Given the description of an element on the screen output the (x, y) to click on. 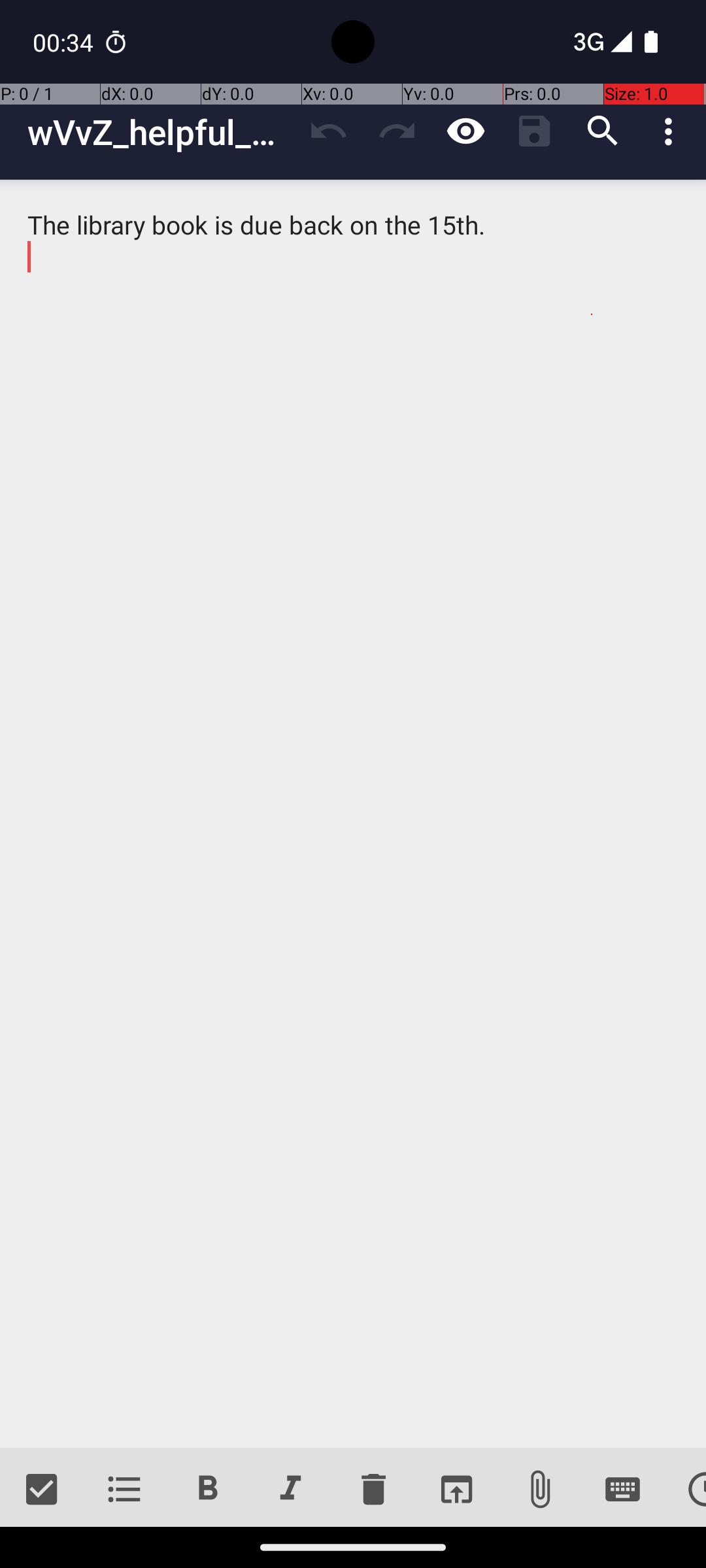
wVvZ_helpful_unicorn Element type: android.widget.TextView (160, 131)
The library book is due back on the 15th.
 Element type: android.widget.EditText (353, 813)
00:34 Element type: android.widget.TextView (64, 41)
